Given the description of an element on the screen output the (x, y) to click on. 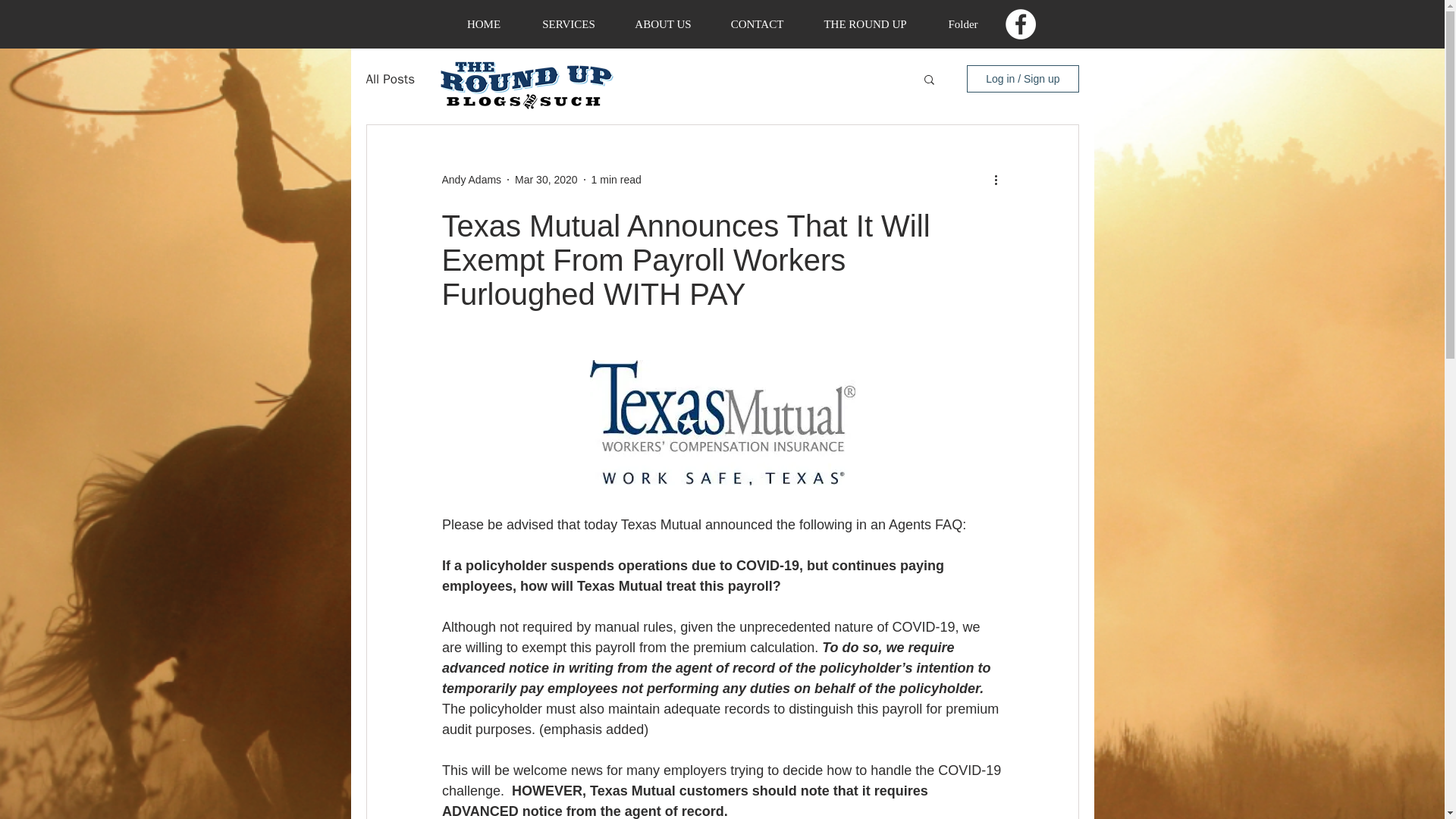
1 min read (616, 178)
HOME (483, 24)
Andy Adams (470, 179)
Mar 30, 2020 (546, 178)
All Posts (389, 77)
THE ROUND UP (865, 24)
SERVICES (567, 24)
CONTACT (757, 24)
ABOUT US (663, 24)
